Given the description of an element on the screen output the (x, y) to click on. 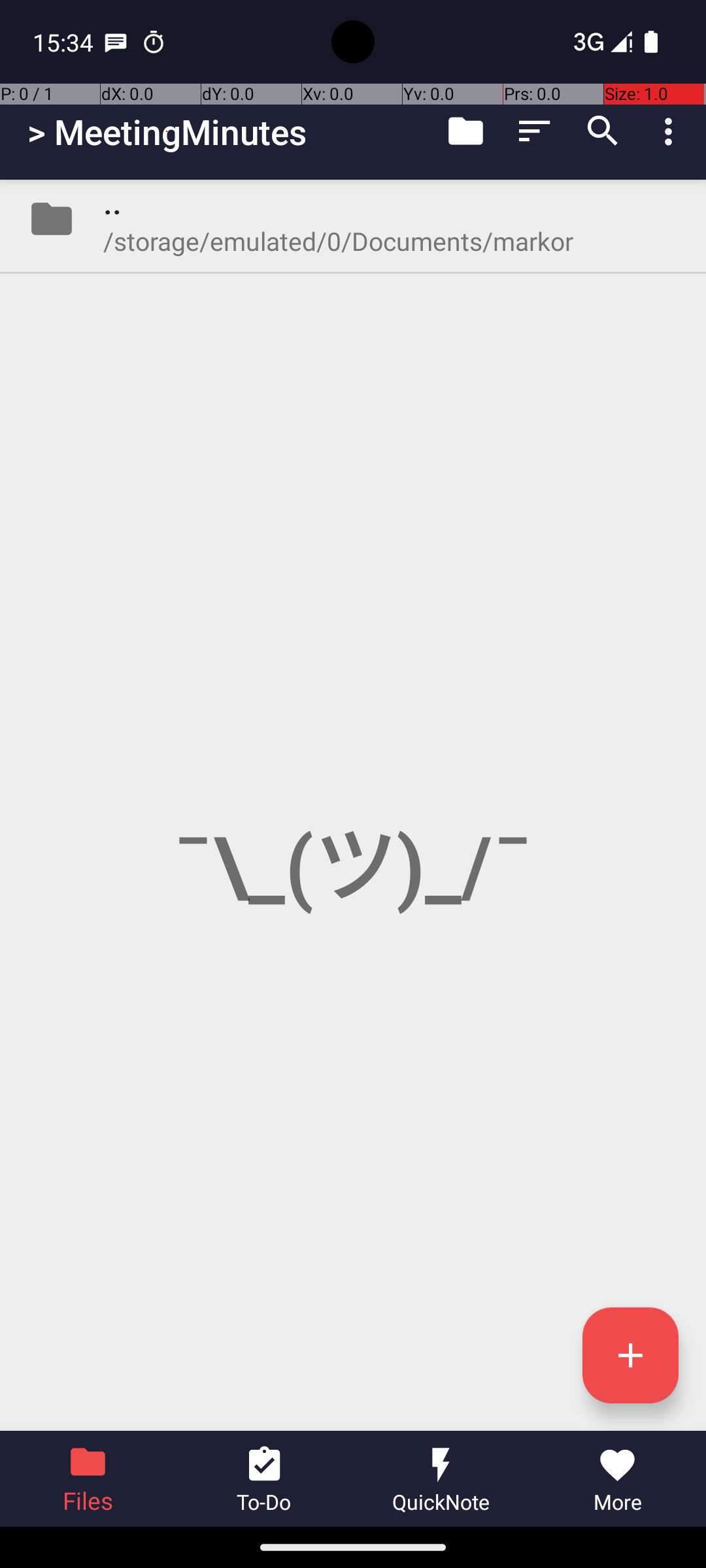
> MeetingMinutes Element type: android.widget.TextView (166, 131)
